Given the description of an element on the screen output the (x, y) to click on. 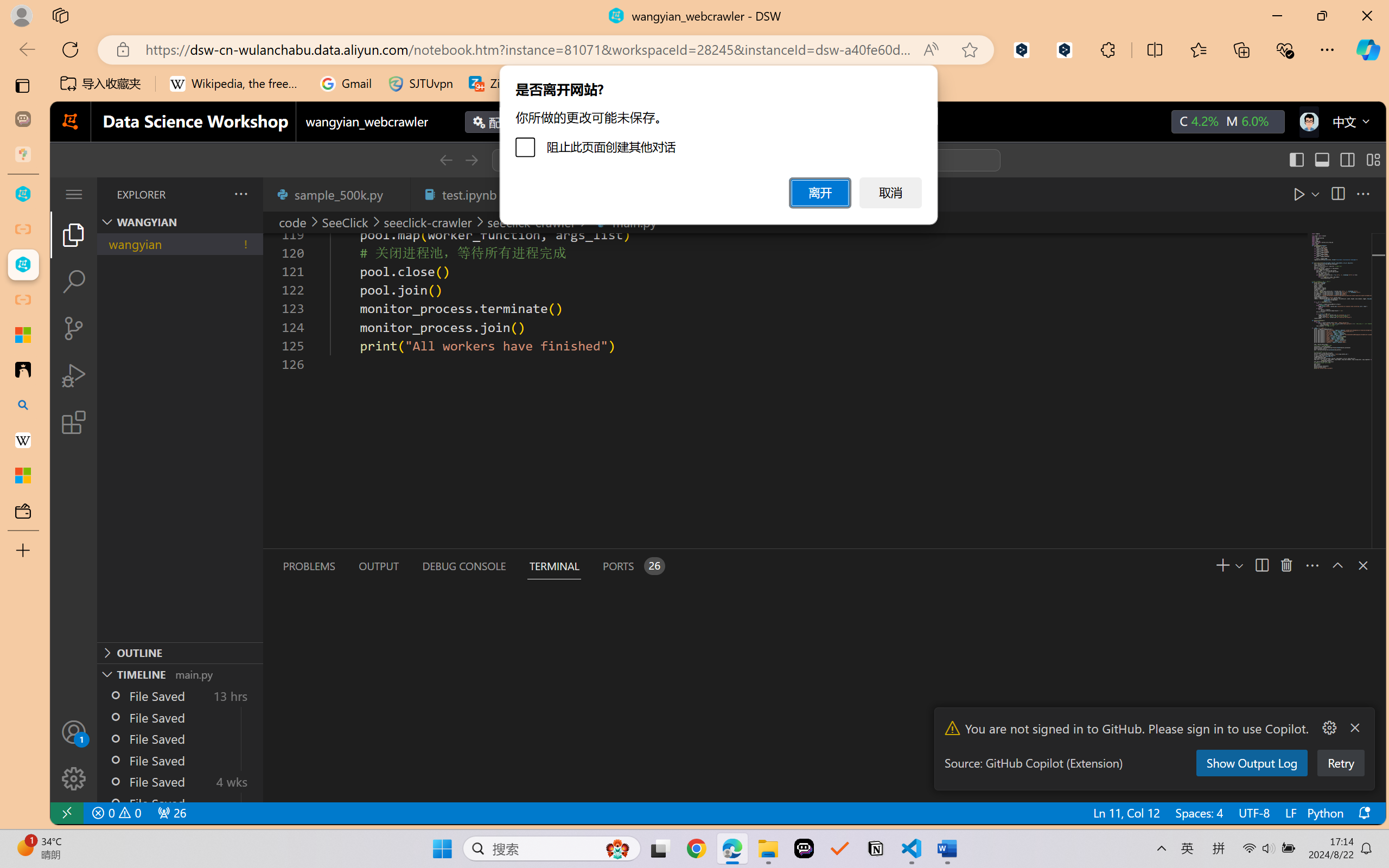
Explorer actions (212, 194)
Problems (Ctrl+Shift+M) (308, 565)
Toggle Panel (Ctrl+J) (1320, 159)
Manage (73, 755)
Spaces: 4 (1198, 812)
Class: menubar compact overflow-menu-only (73, 194)
Maximize Panel Size (1337, 565)
Editor actions (1319, 194)
LF (1290, 812)
